Given the description of an element on the screen output the (x, y) to click on. 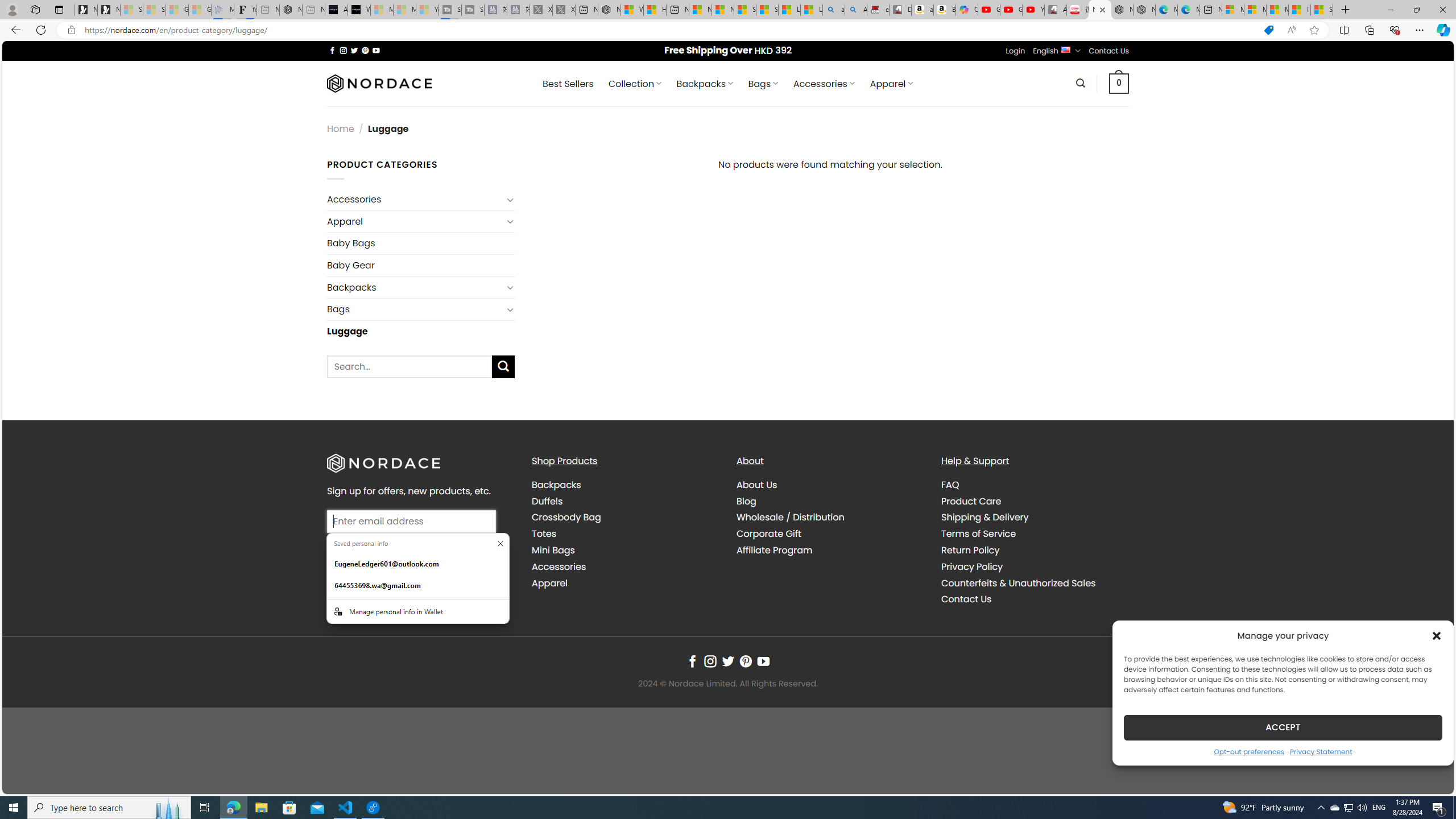
Manage personal info in Wallet (417, 610)
AI Voice Changer for PC and Mac - Voice.ai (336, 9)
Backpacks (555, 484)
Terms of Service (1034, 533)
Baby Bags (421, 242)
Close tab (1102, 9)
Privacy Statement (1321, 750)
New tab - Sleeping (313, 9)
Counterfeits & Unauthorized Sales (1034, 583)
Return Policy (1034, 549)
Go to top (1430, 777)
Follow on Pinterest (745, 661)
